Given the description of an element on the screen output the (x, y) to click on. 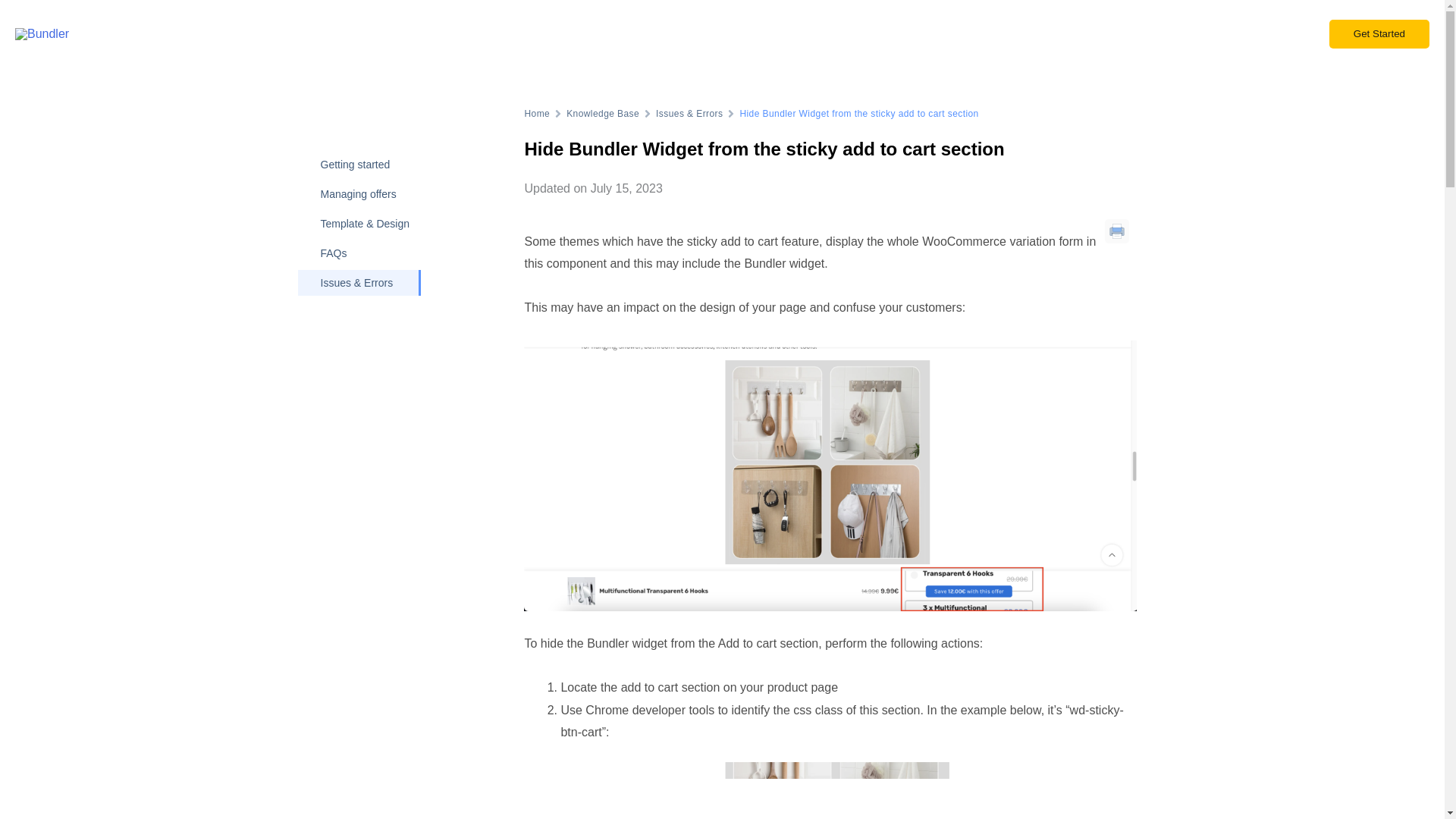
Pricing (1008, 34)
Knowledge Base (602, 113)
Documentation (1164, 34)
Home (537, 113)
Features (949, 34)
Get Started (1379, 33)
Testimonials (1077, 34)
Support (1284, 34)
Knowledge Base (602, 113)
Hide Bundler Widget from the sticky add to cart section (764, 148)
Home (537, 113)
